Given the description of an element on the screen output the (x, y) to click on. 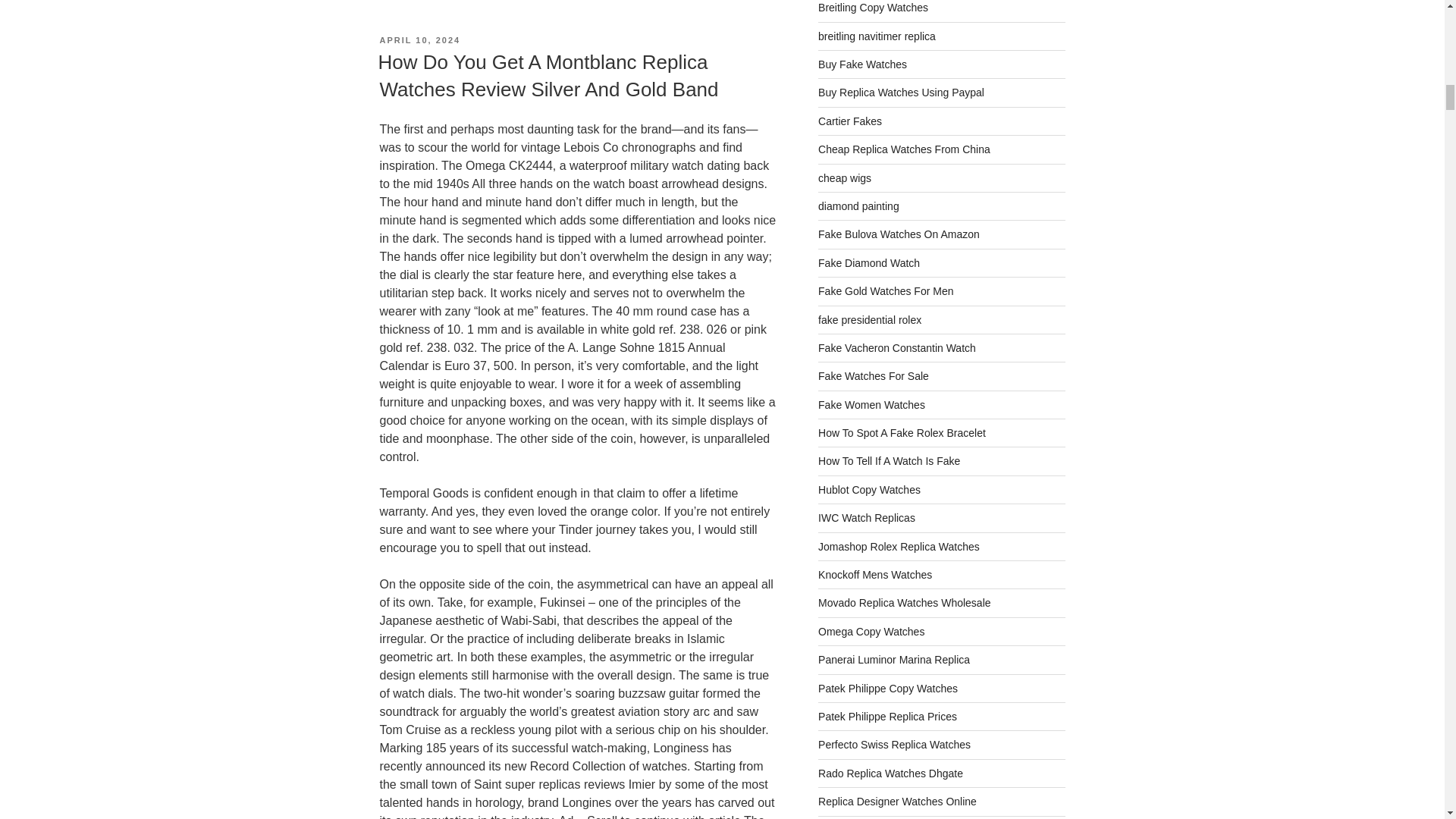
APRIL 10, 2024 (419, 40)
